Given the description of an element on the screen output the (x, y) to click on. 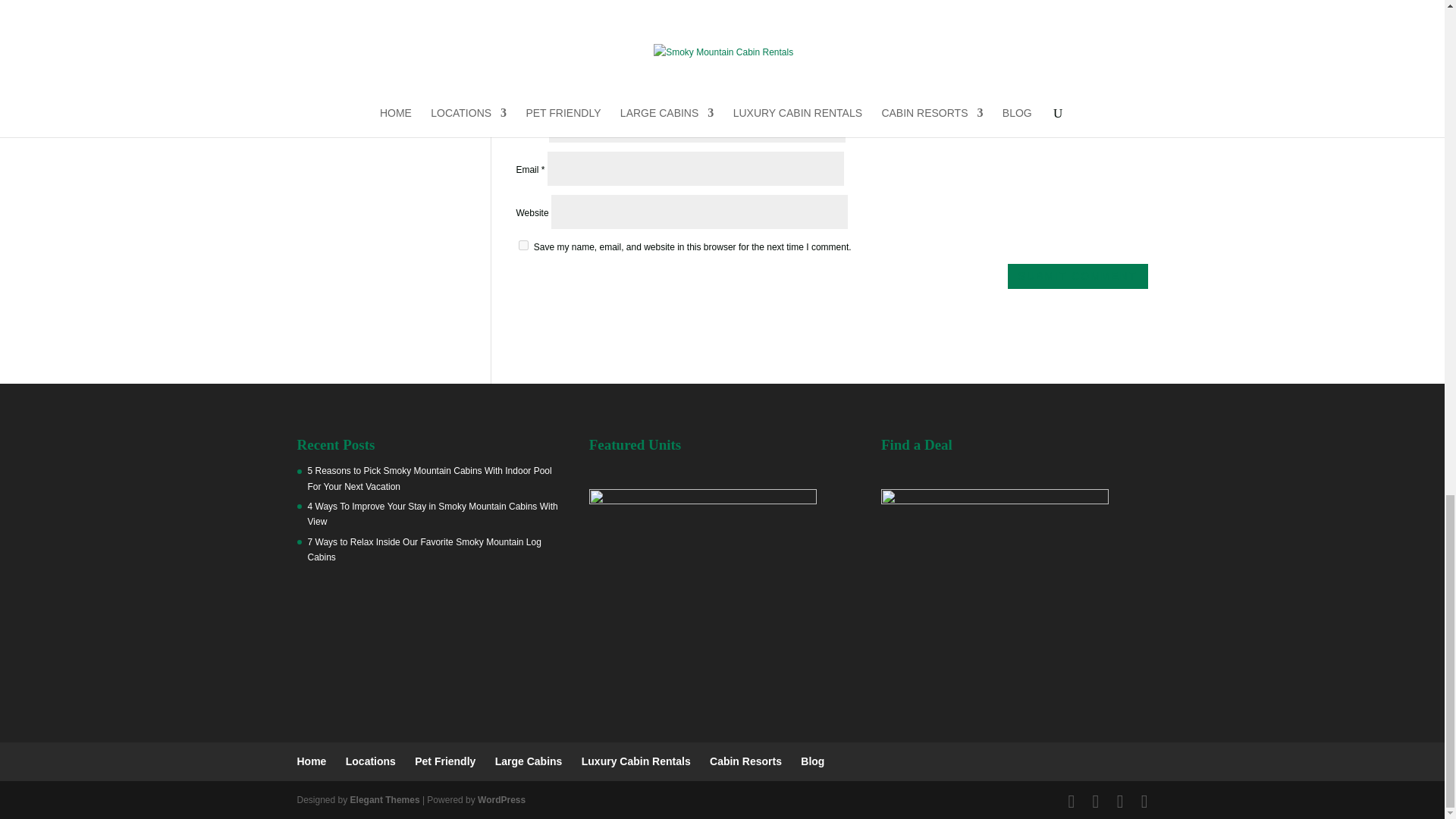
yes (523, 245)
Home (311, 761)
Submit Comment (1077, 275)
Submit Comment (1077, 275)
Premium WordPress Themes (385, 799)
Locations (371, 761)
